Given the description of an element on the screen output the (x, y) to click on. 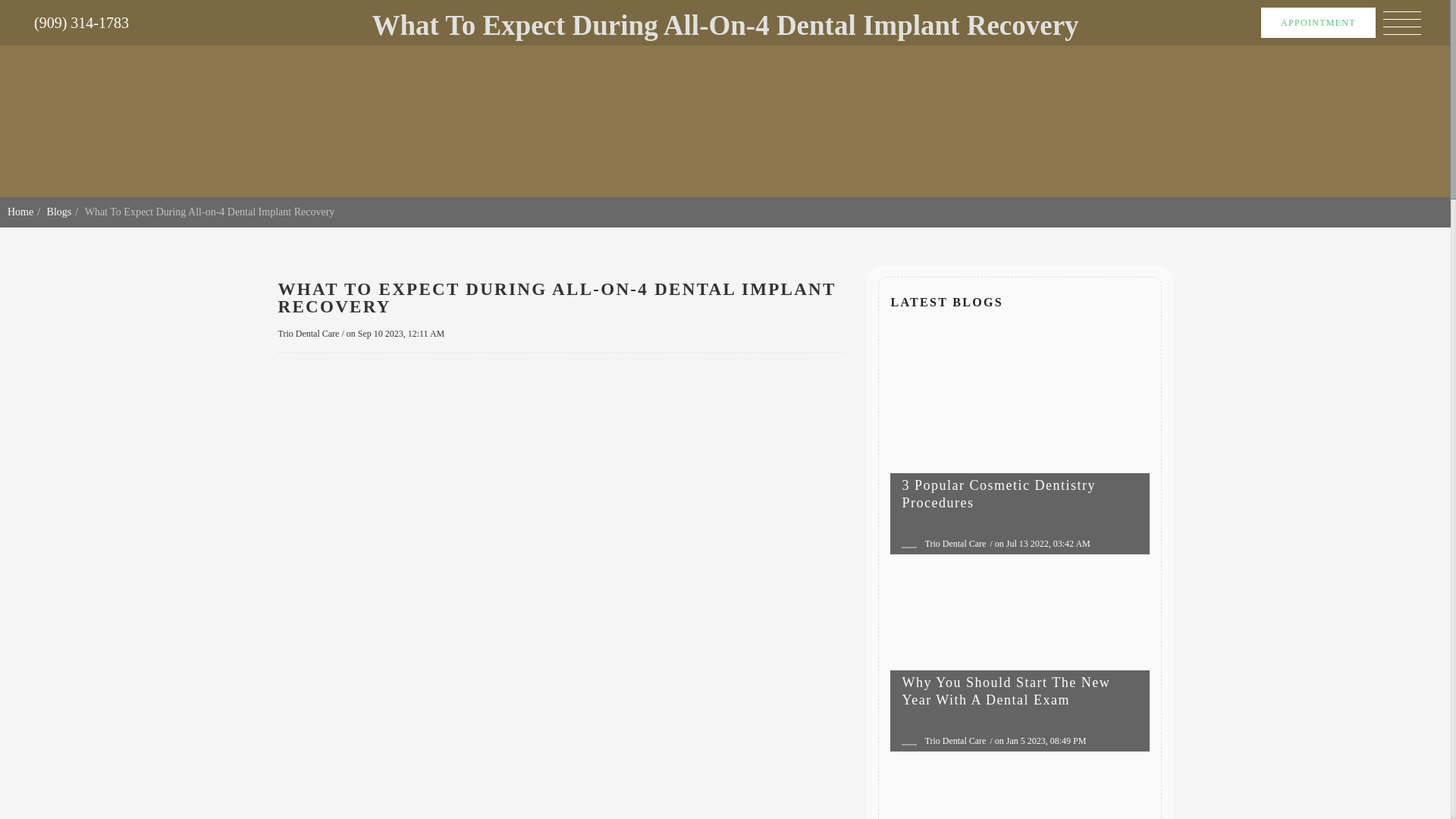
Blogs (58, 211)
Home (20, 211)
